Given the description of an element on the screen output the (x, y) to click on. 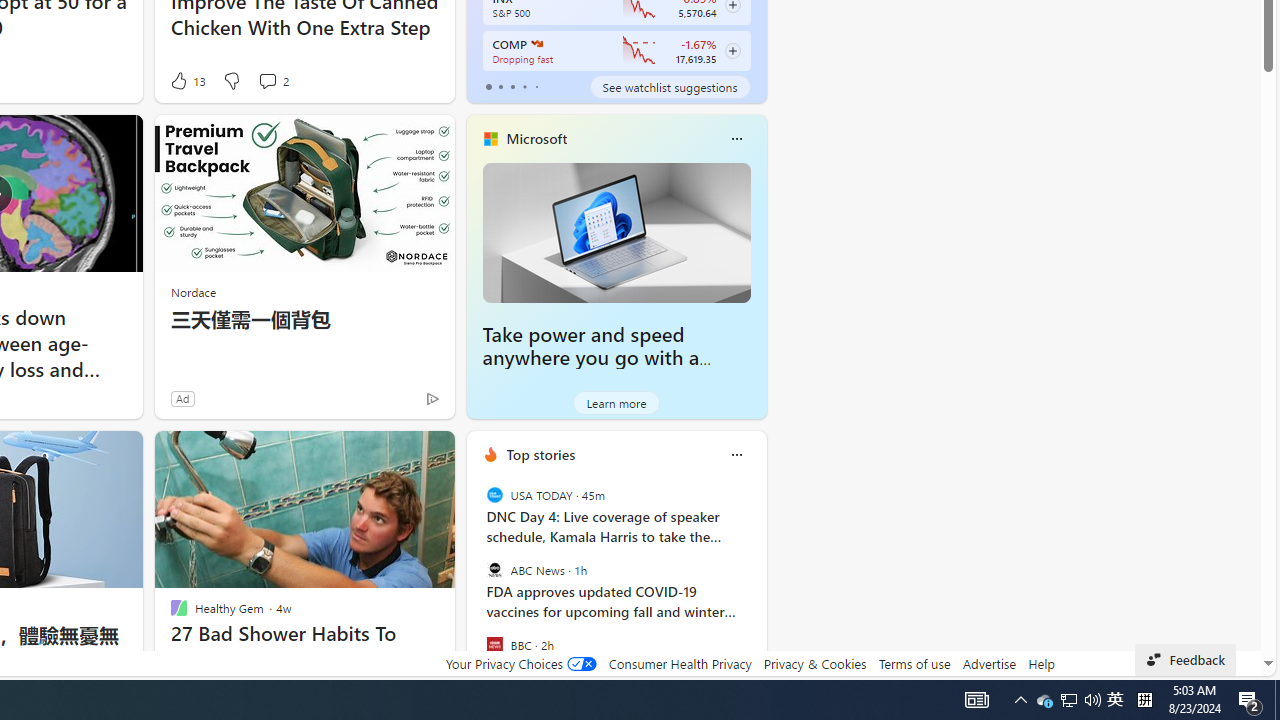
tab-1 (500, 86)
NASDAQ (535, 43)
View comments 2 Comment (272, 80)
View comments 2 Comment (267, 80)
BBC (494, 644)
Top stories (540, 454)
Learn more (616, 402)
tab-0 (488, 86)
